Given the description of an element on the screen output the (x, y) to click on. 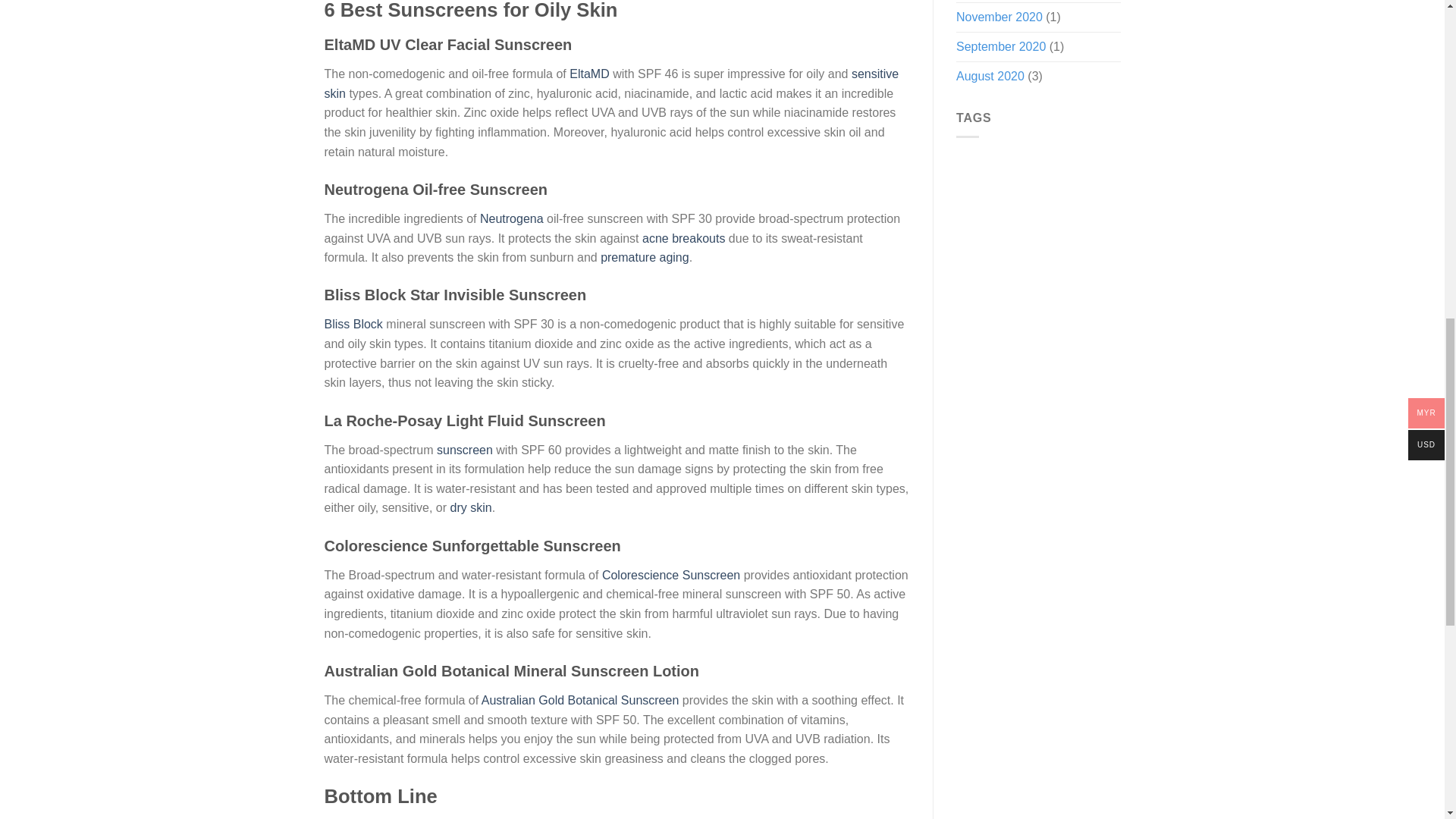
sensitive skin (611, 83)
Neutrogena (511, 218)
EltaMD (588, 73)
